Given the description of an element on the screen output the (x, y) to click on. 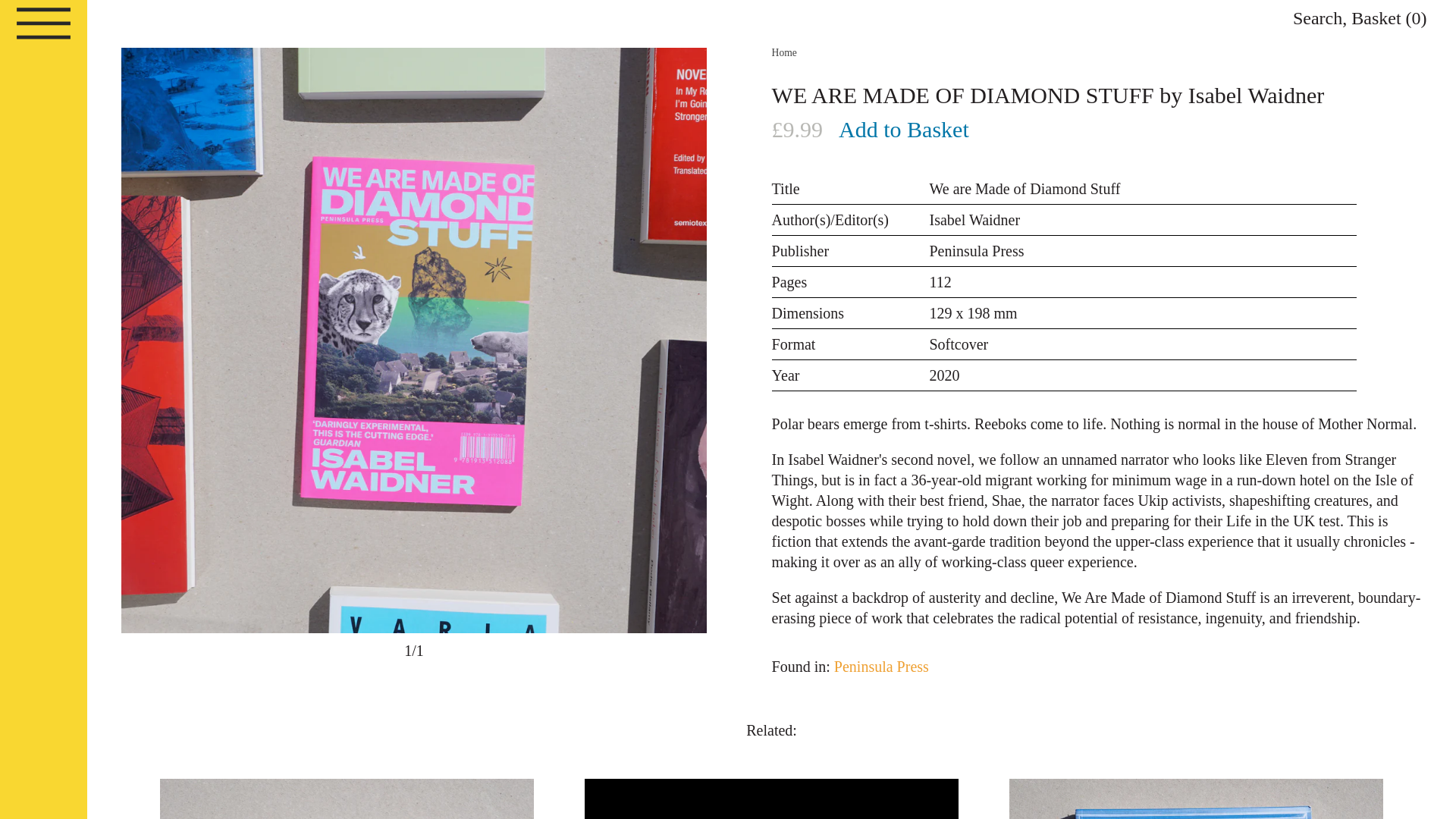
Peninsula Press (881, 666)
Add to Basket (904, 129)
Add to Basket (904, 129)
Search (1317, 17)
Home (783, 52)
